Given the description of an element on the screen output the (x, y) to click on. 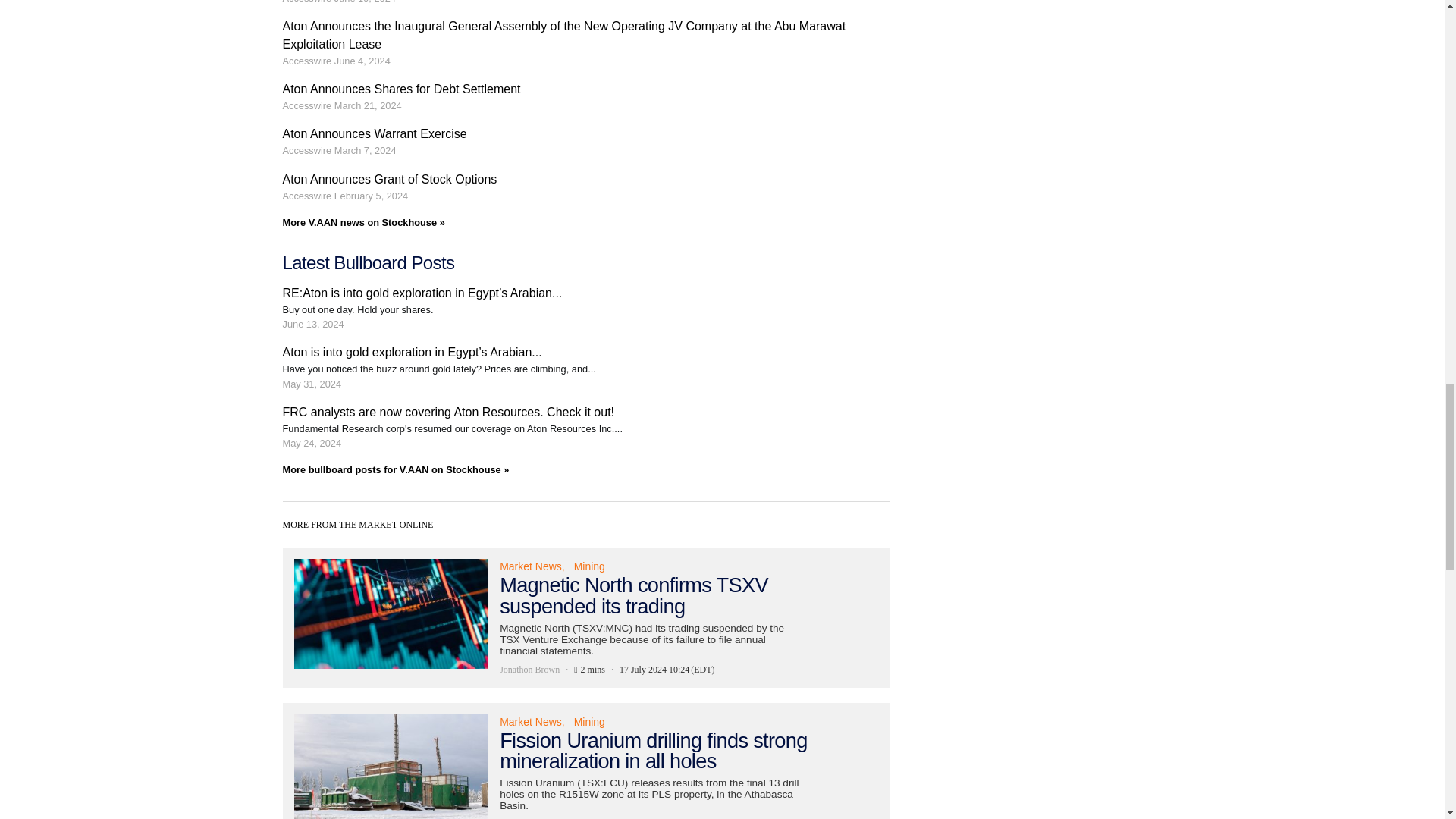
View all posts by Jonathon Brown (529, 669)
View all posts by Jonathon Brown (529, 818)
Magnetic North confirms TSXV suspended its trading (585, 617)
